Given the description of an element on the screen output the (x, y) to click on. 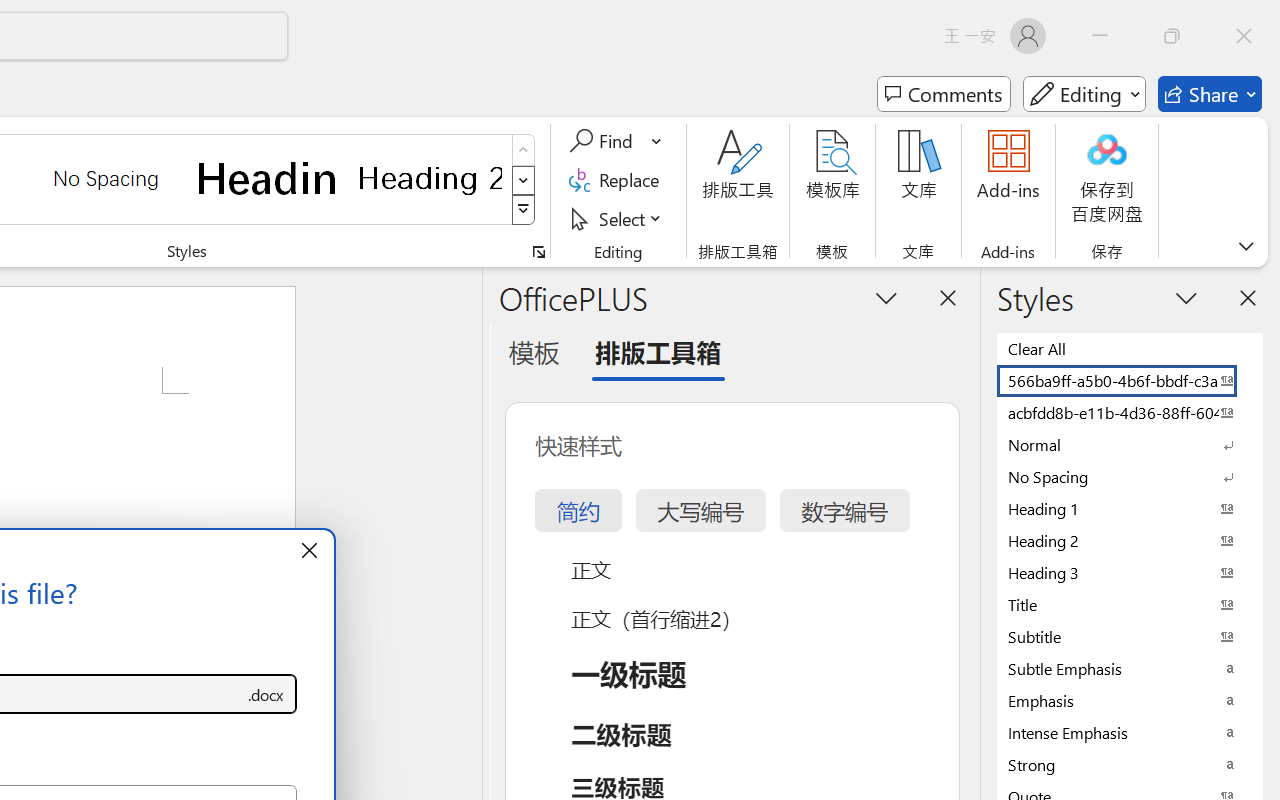
acbfdd8b-e11b-4d36-88ff-6049b138f862 (1130, 412)
Find (616, 141)
Row up (523, 150)
Comments (943, 94)
Share (1210, 94)
Clear All (1130, 348)
Styles (523, 209)
Title (1130, 604)
Task Pane Options (886, 297)
Class: NetUIImage (523, 210)
Emphasis (1130, 700)
